Given the description of an element on the screen output the (x, y) to click on. 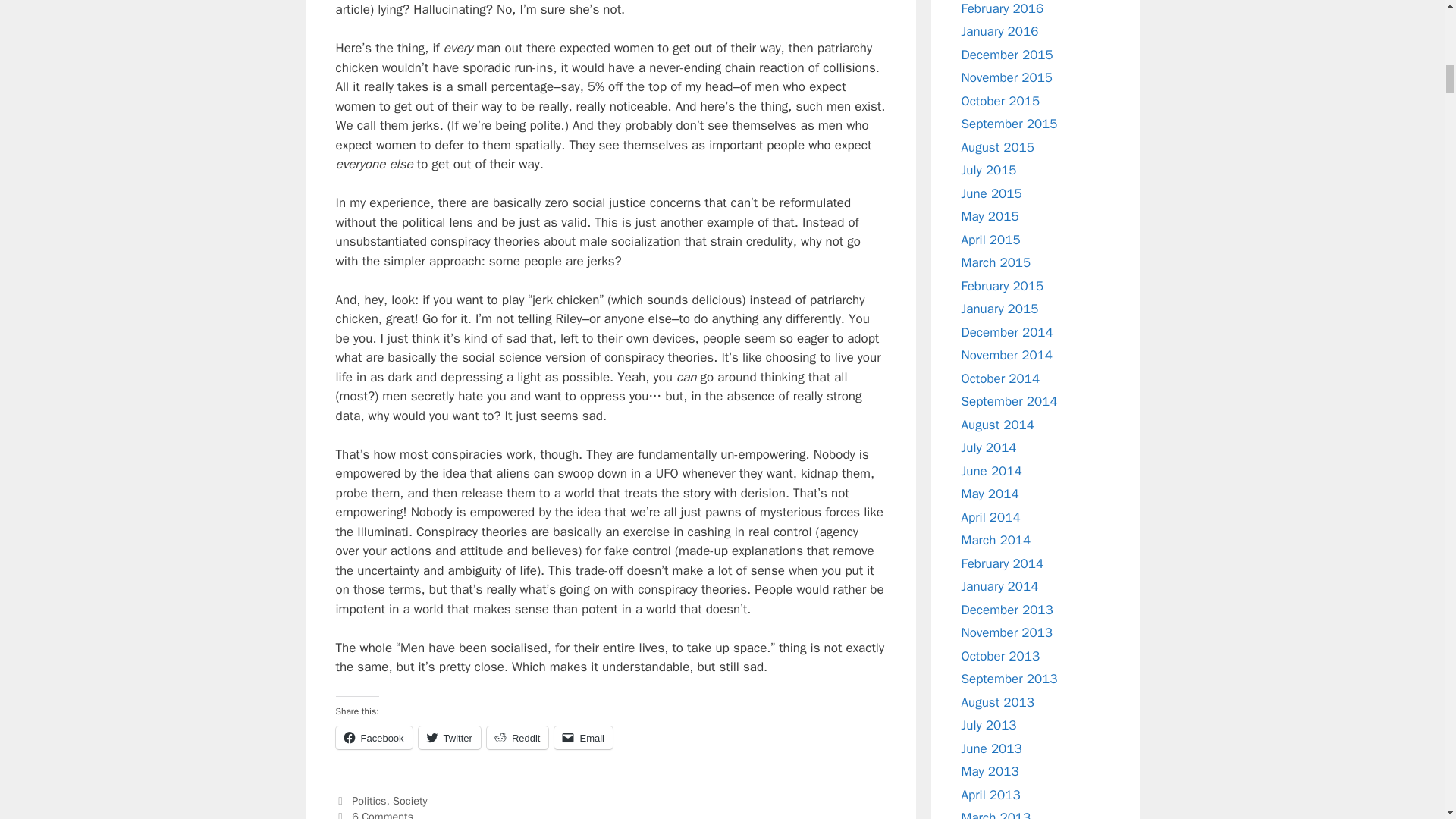
Click to share on Facebook (373, 737)
6 Comments (382, 814)
Society (410, 800)
Reddit (517, 737)
Twitter (449, 737)
Click to email a link to a friend (583, 737)
Facebook (373, 737)
Click to share on Reddit (517, 737)
Email (583, 737)
Click to share on Twitter (449, 737)
